Given the description of an element on the screen output the (x, y) to click on. 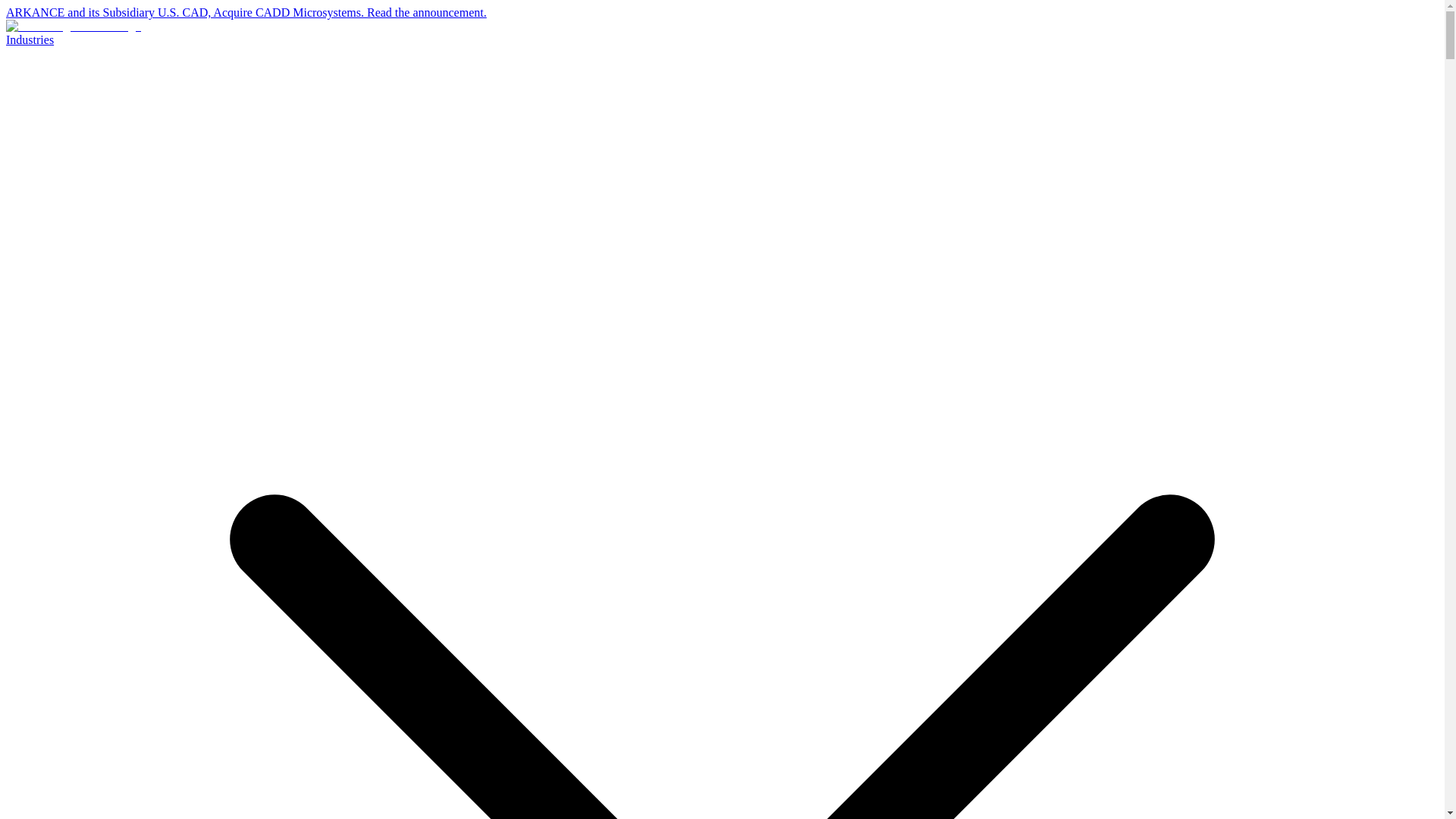
Industries (29, 39)
